Given the description of an element on the screen output the (x, y) to click on. 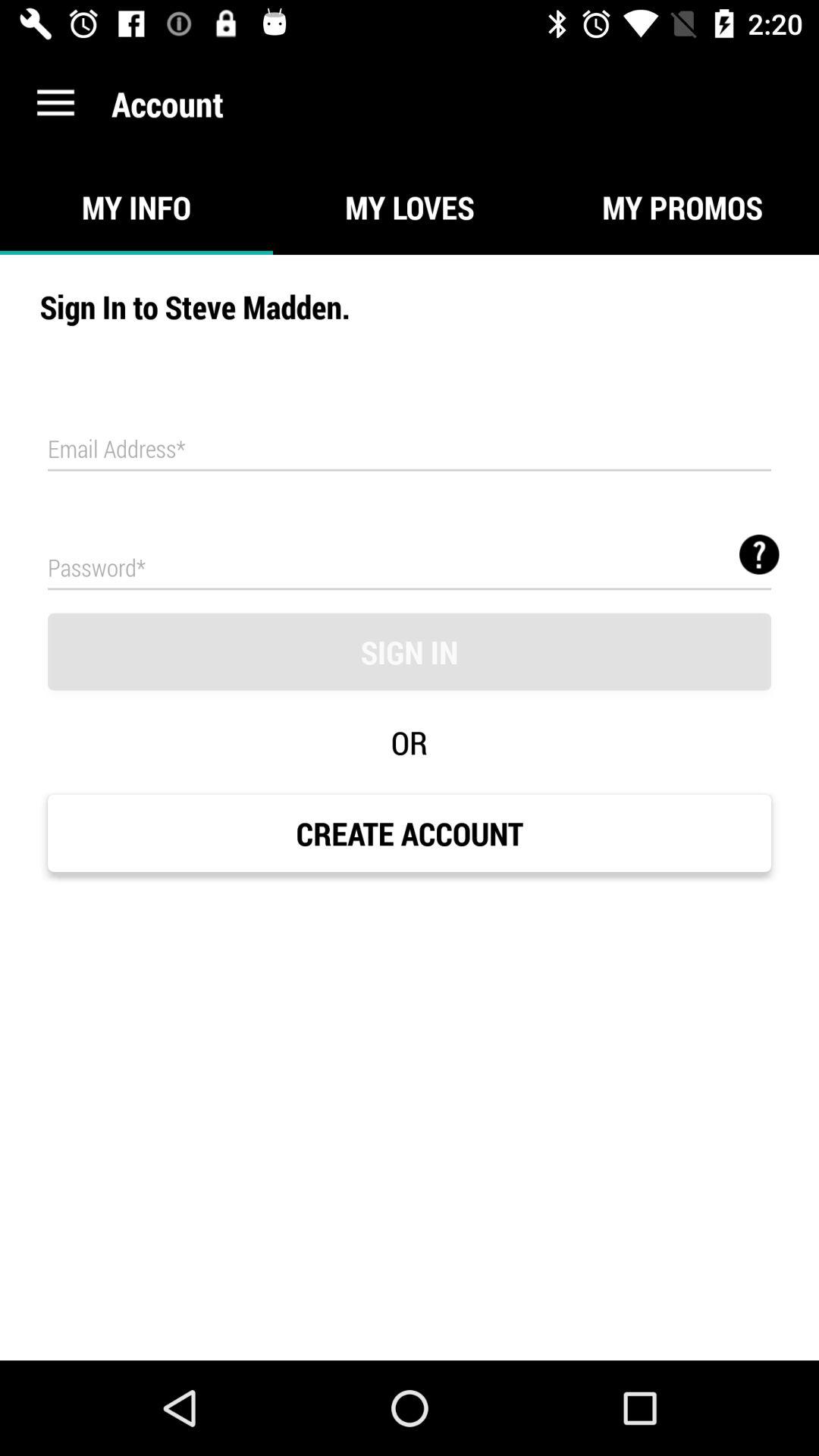
view more information (759, 554)
